Given the description of an element on the screen output the (x, y) to click on. 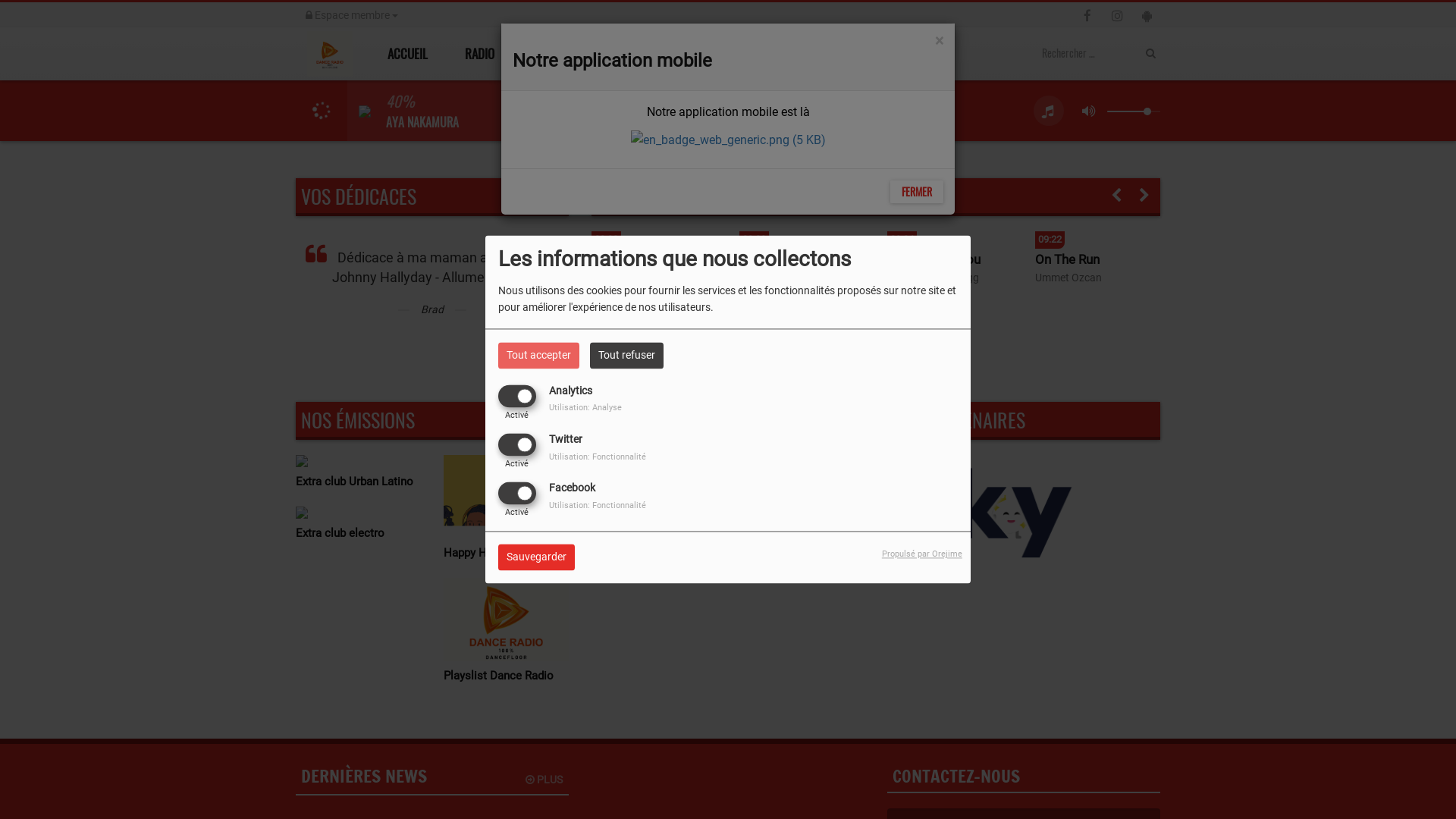
Android  Element type: hover (727, 138)
09:24 Element type: text (949, 237)
Playslist Dance Radio Element type: text (505, 675)
Happy Hours Show Element type: text (505, 552)
5 Element type: text (801, 461)
ACCUEIL Element type: text (405, 53)
Tout refuser Element type: text (626, 355)
09:32 Element type: text (653, 237)
Tout accepter Element type: text (538, 355)
3 Element type: text (653, 461)
Extra club Urban Latino Element type: text (357, 481)
Extra club electro Element type: text (357, 532)
PARTICIPEZ Element type: text (752, 53)
Espace membre Element type: text (351, 15)
PLUS Element type: text (543, 779)
09:22 Element type: text (1097, 237)
RADIO Element type: text (483, 53)
Sauvegarder Element type: text (536, 557)
MUSIQUE Element type: text (569, 53)
CONTACT Element type: text (843, 53)
FERMER Element type: text (916, 191)
09:28 Element type: text (801, 237)
Skybot discord Element type: hover (983, 511)
4 Element type: text (653, 525)
